Given the description of an element on the screen output the (x, y) to click on. 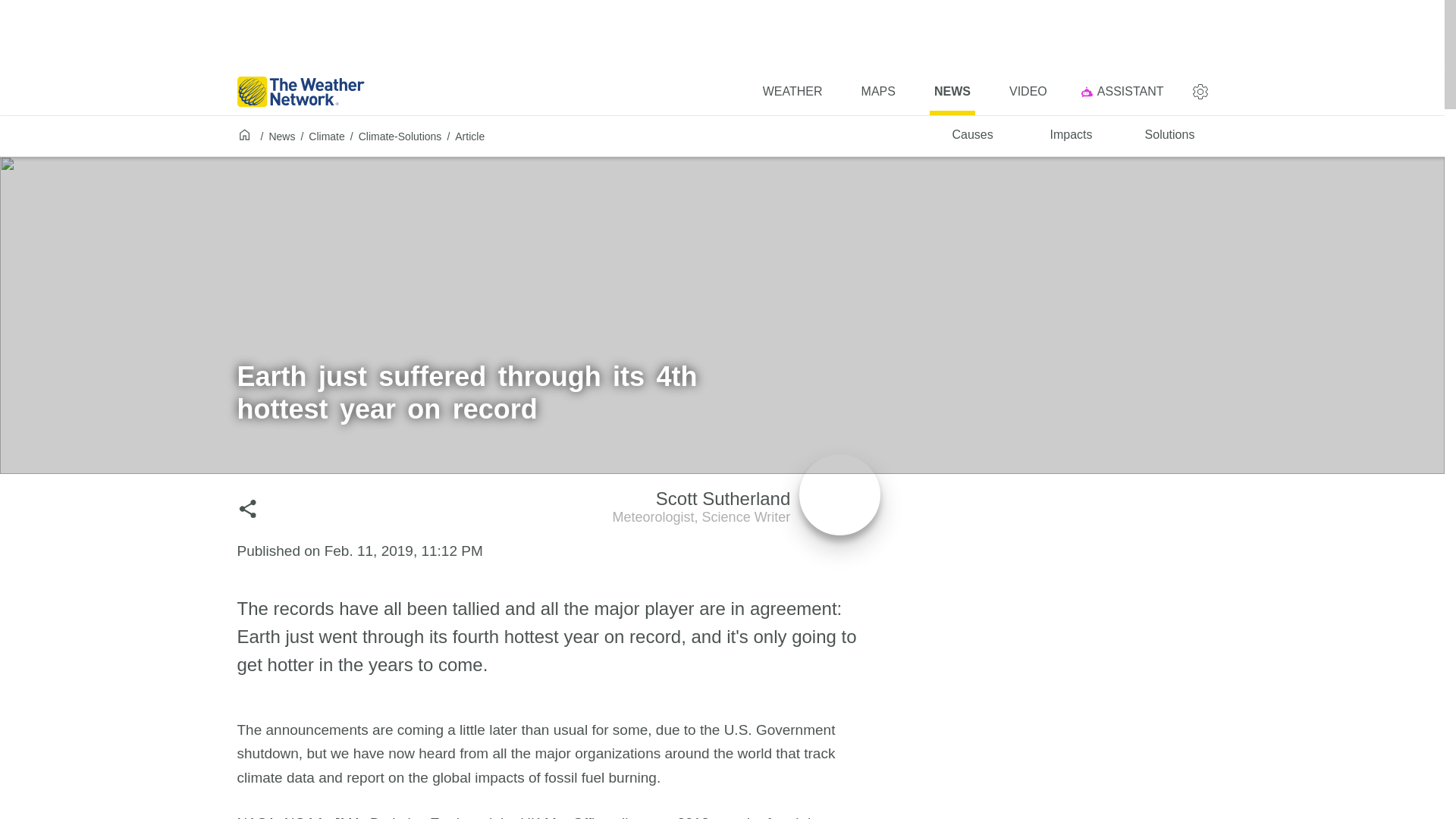
Climate-Solutions (400, 136)
Solutions (1169, 136)
ASSISTANT (746, 509)
Causes (1125, 91)
Climate (972, 136)
MAPS (325, 136)
Impacts (878, 91)
NEWS (1071, 136)
News (952, 91)
